Given the description of an element on the screen output the (x, y) to click on. 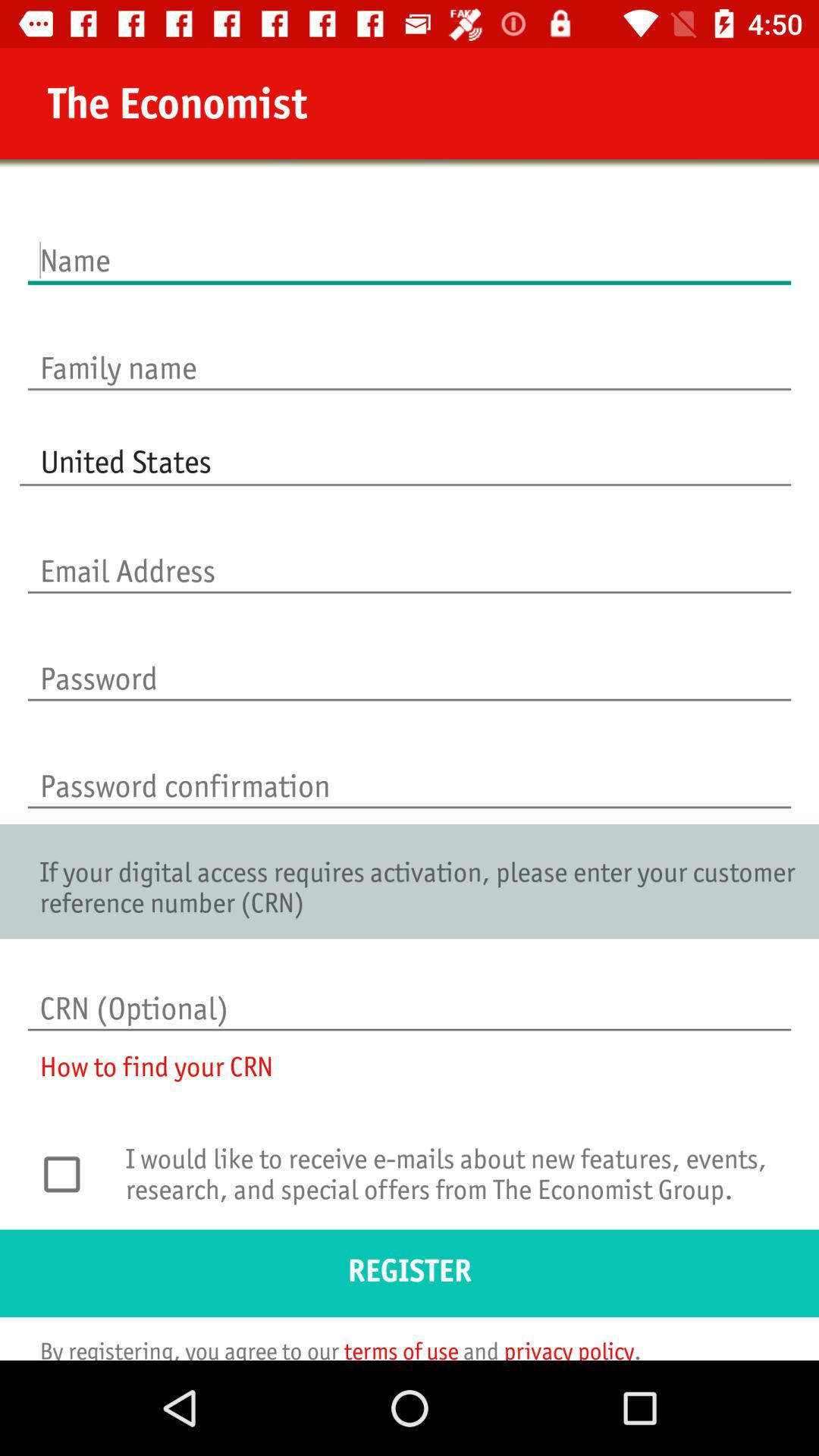
launch the icon below united states item (409, 555)
